Given the description of an element on the screen output the (x, y) to click on. 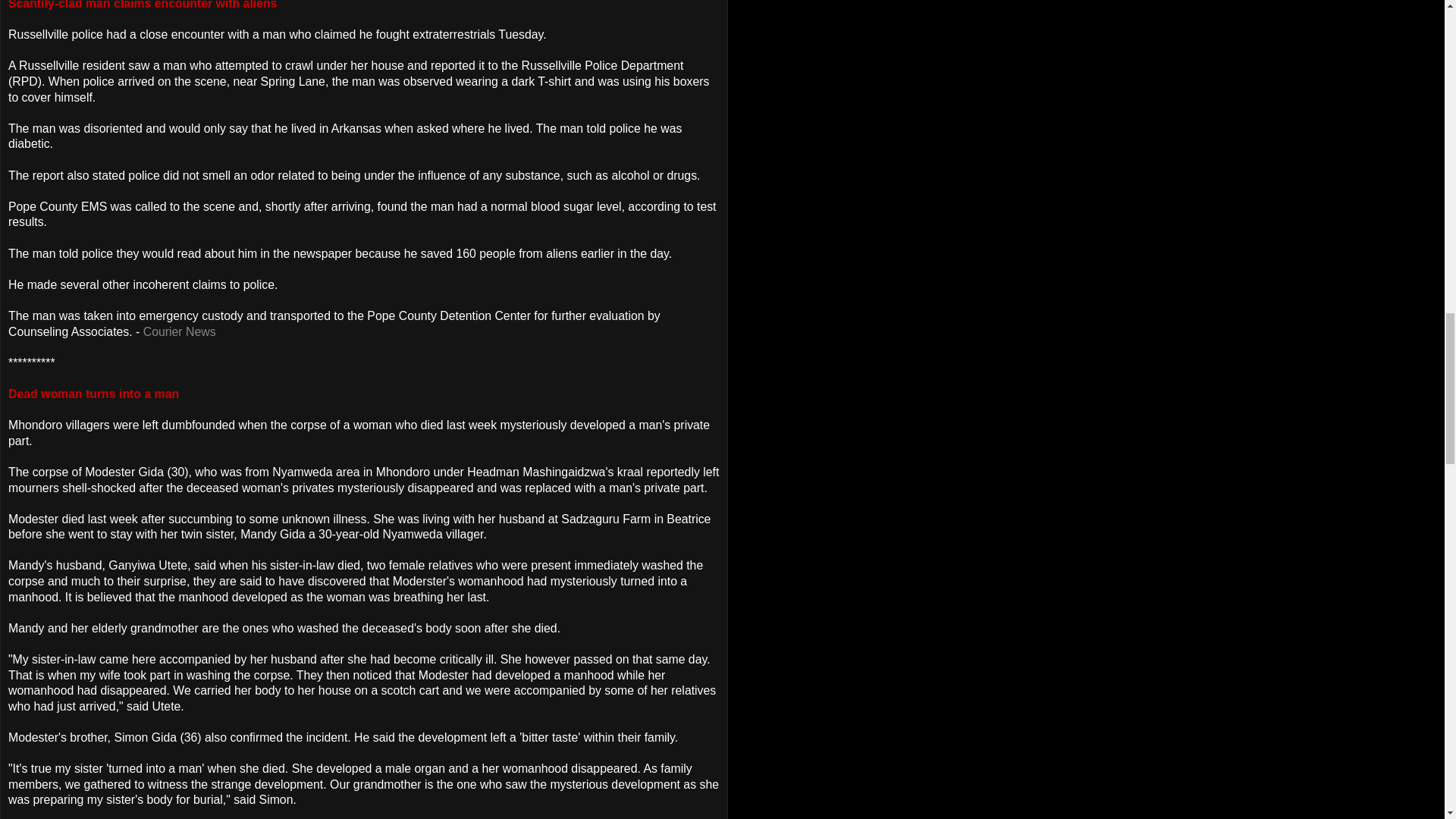
Courier News (178, 331)
